Given the description of an element on the screen output the (x, y) to click on. 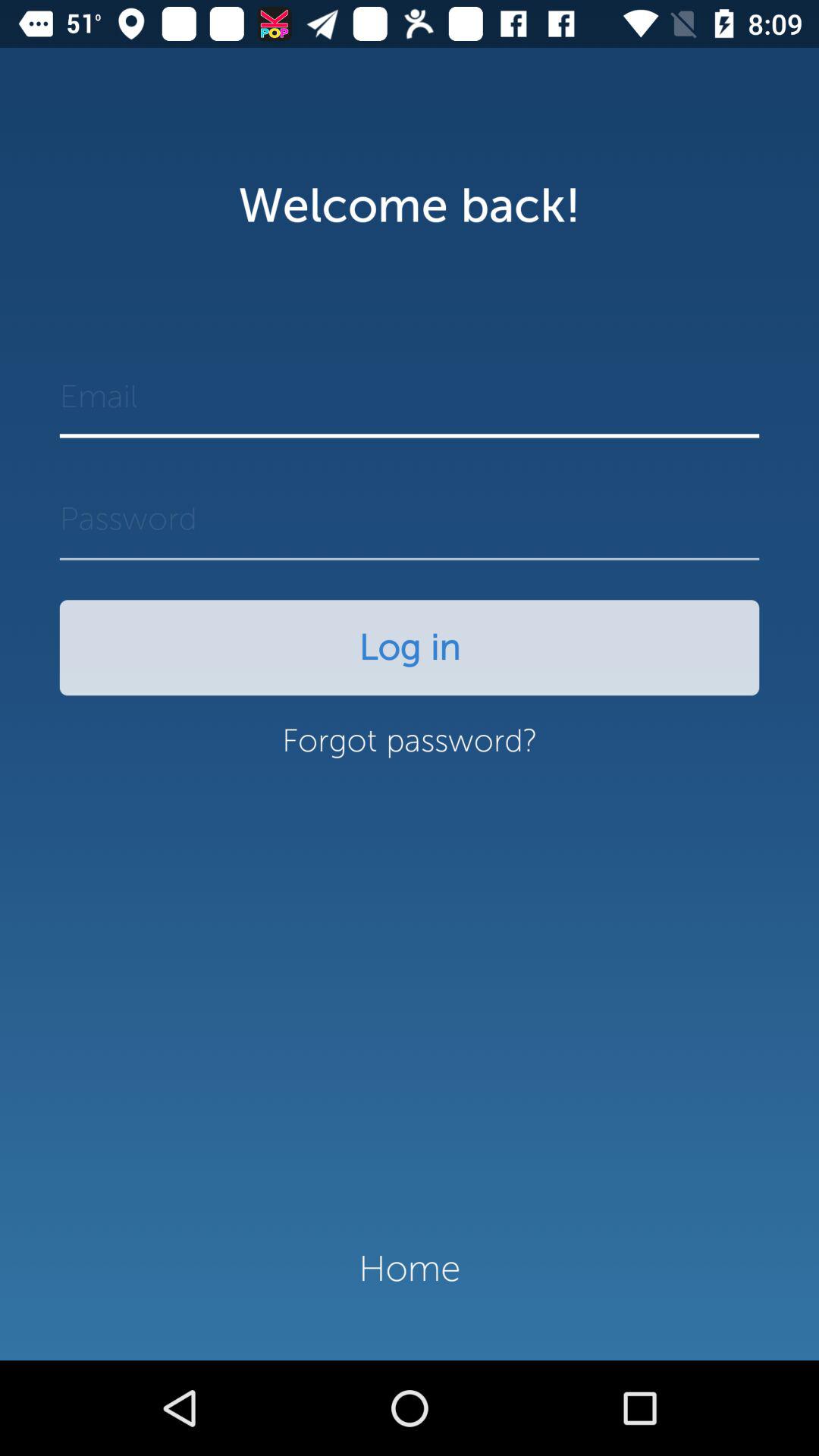
tap icon above home item (409, 748)
